Given the description of an element on the screen output the (x, y) to click on. 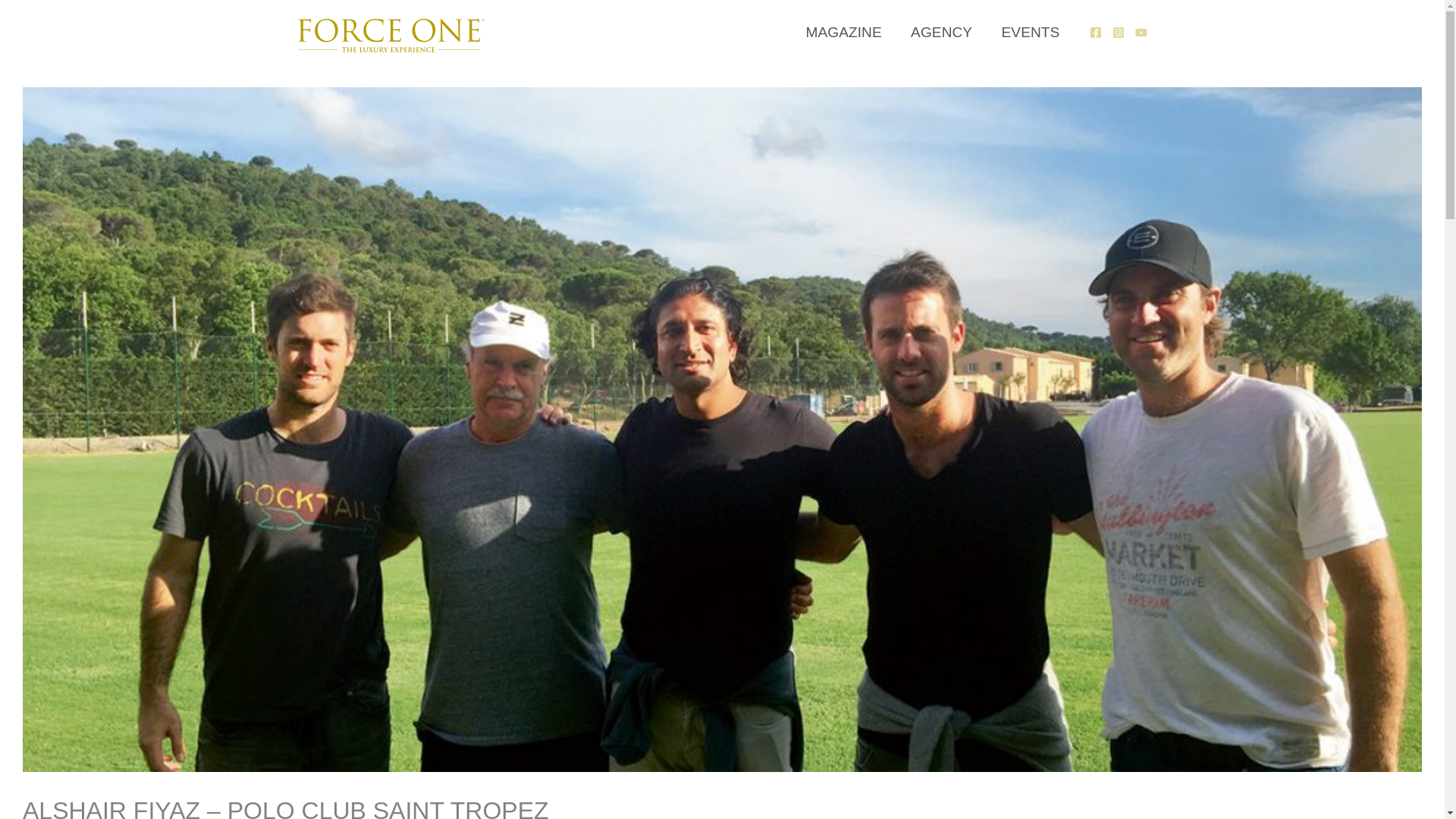
AGENCY (941, 31)
EVENTS (1030, 31)
MAGAZINE (843, 31)
